Given the description of an element on the screen output the (x, y) to click on. 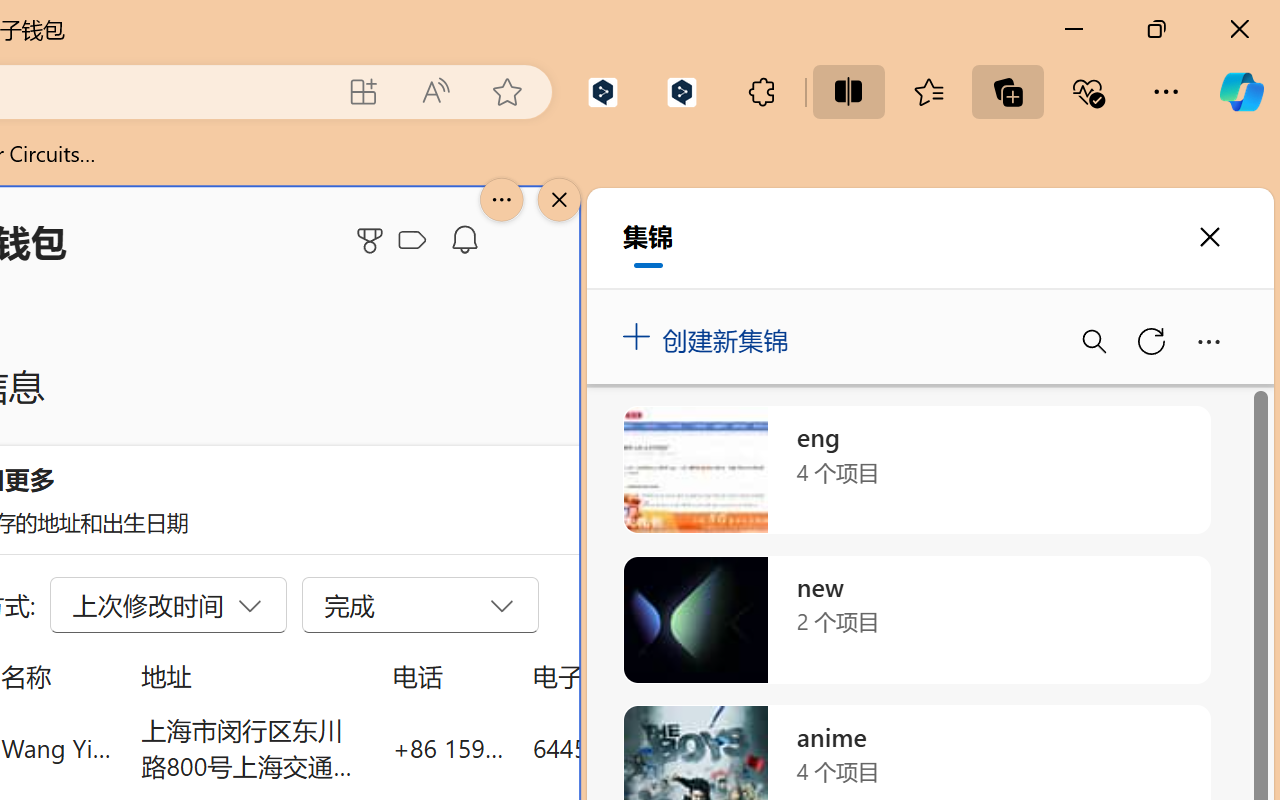
+86 159 0032 4640 (447, 747)
